Given the description of an element on the screen output the (x, y) to click on. 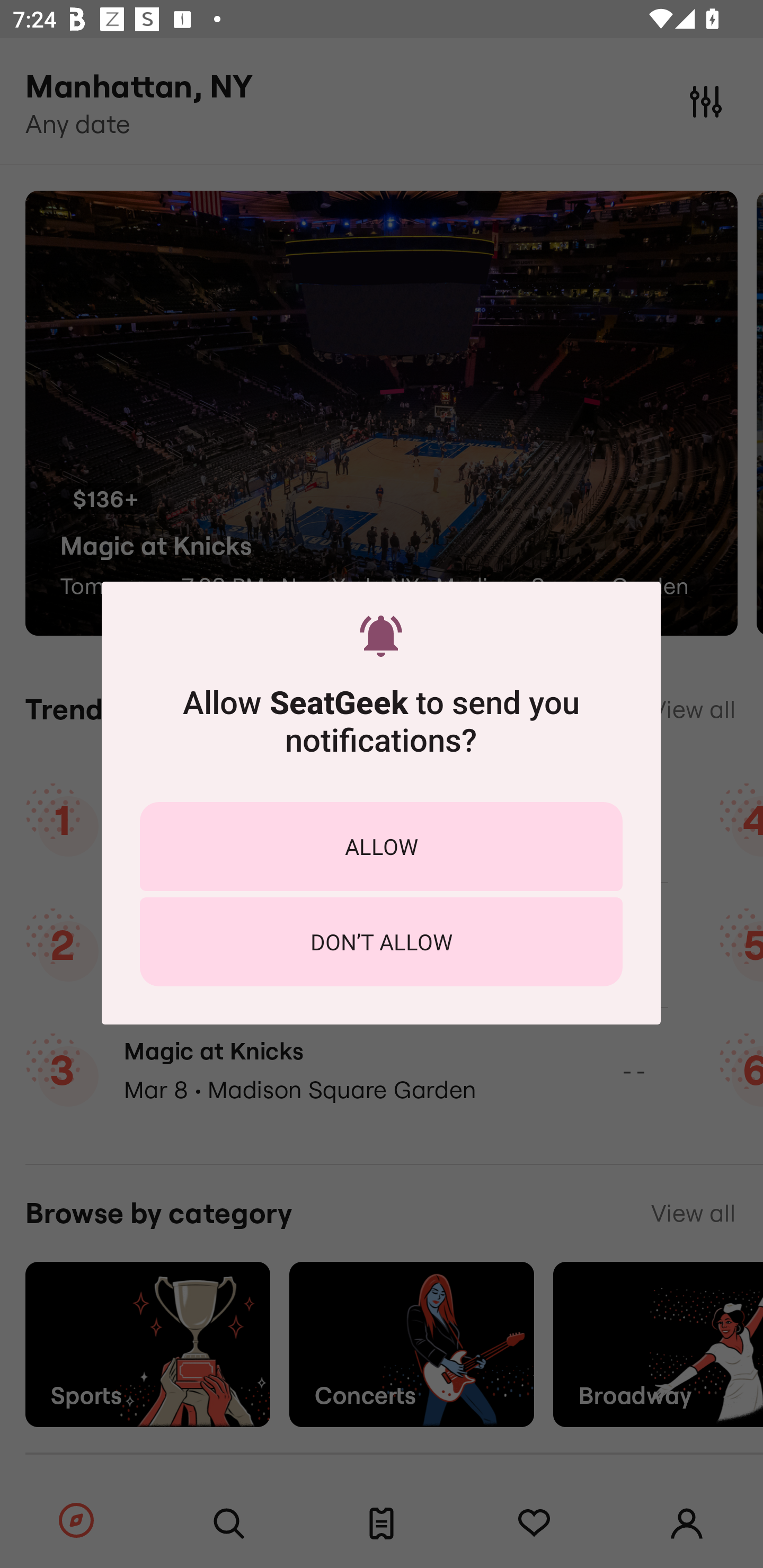
ALLOW (380, 845)
DON’T ALLOW (380, 941)
